Given the description of an element on the screen output the (x, y) to click on. 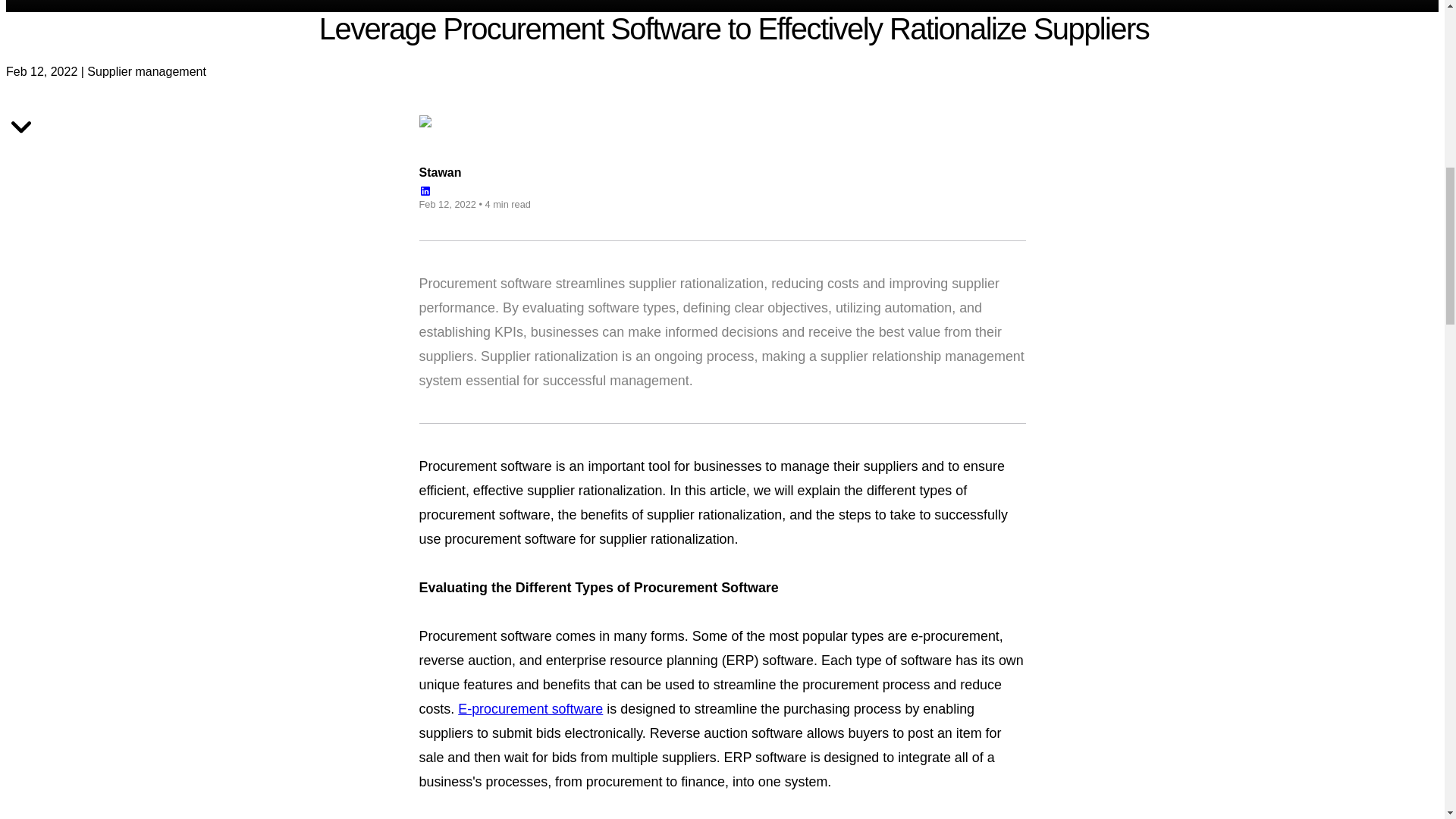
E-procurement software (530, 708)
